Given the description of an element on the screen output the (x, y) to click on. 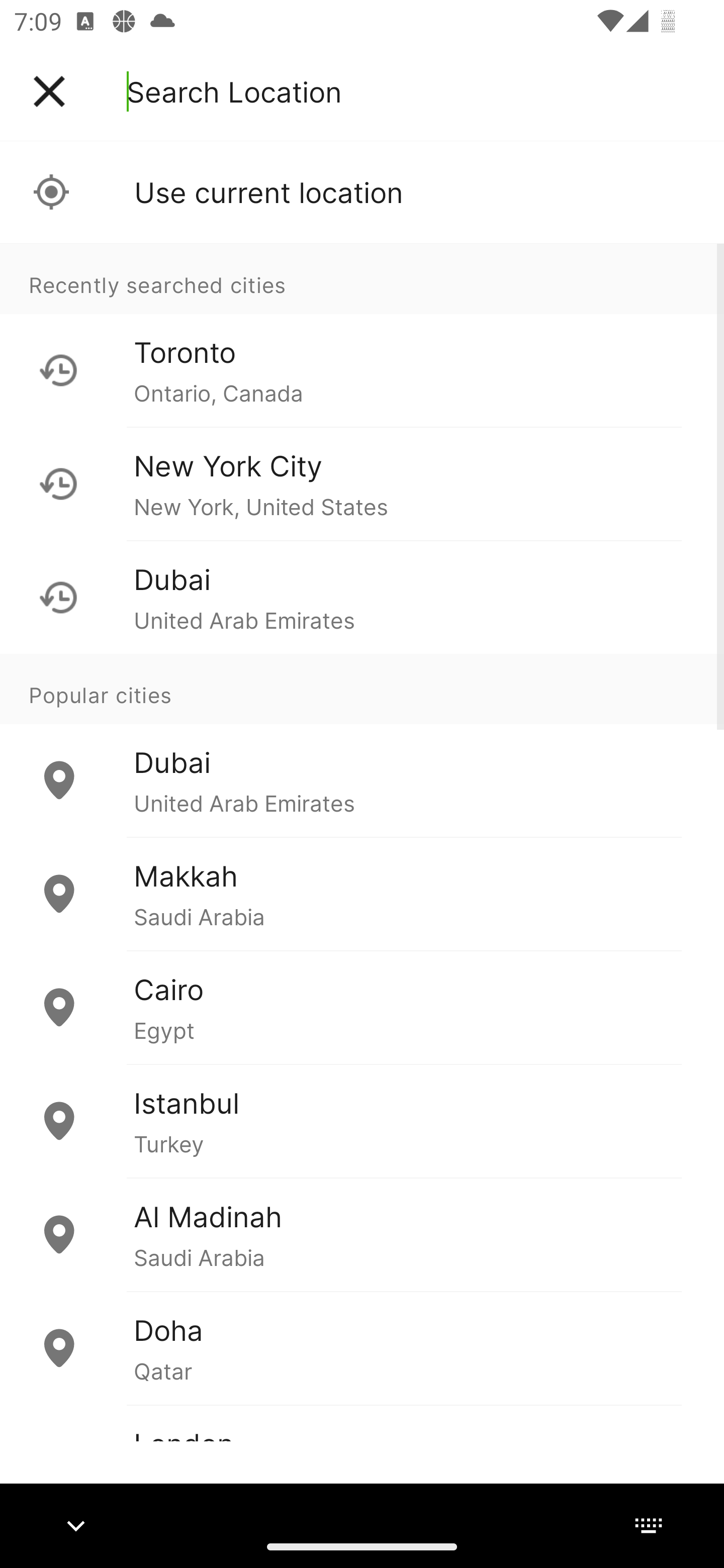
Search Location (234, 91)
Use current location (362, 192)
Recently searched cities Toronto Ontario, Canada (362, 334)
Recently searched cities (362, 278)
New York City New York, United States (362, 483)
Dubai United Arab Emirates (362, 596)
Popular cities Dubai United Arab Emirates (362, 745)
Popular cities (362, 688)
Makkah Saudi Arabia (362, 893)
Cairo Egypt (362, 1007)
Istanbul Turkey (362, 1120)
Al Madinah Saudi Arabia (362, 1233)
Doha Qatar (362, 1347)
